Given the description of an element on the screen output the (x, y) to click on. 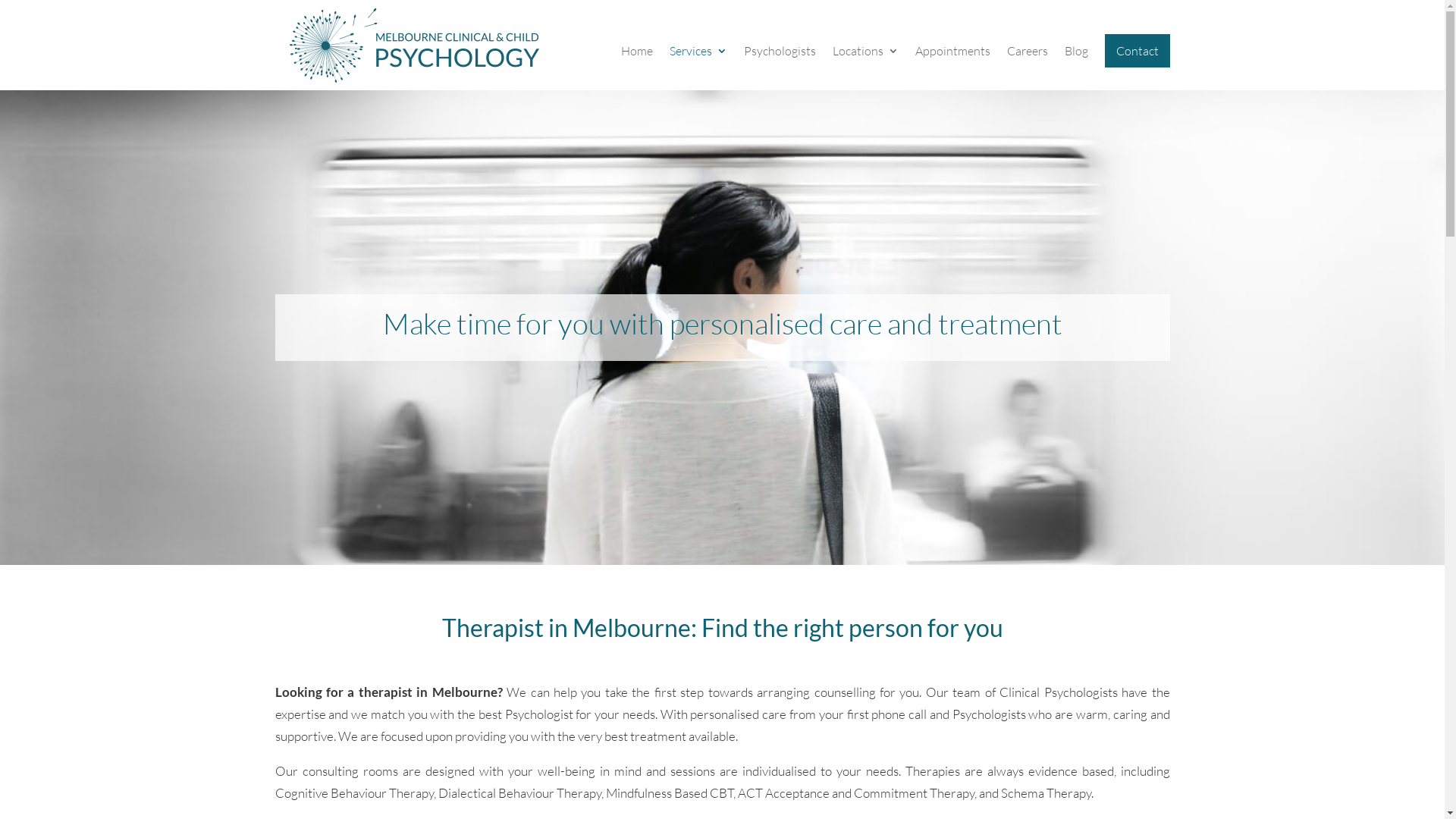
Blog Element type: text (1076, 67)
Appointments Element type: text (951, 67)
Locations Element type: text (865, 67)
Home Element type: text (636, 67)
Services Element type: text (697, 67)
Contact Element type: text (1136, 50)
Careers Element type: text (1027, 67)
Psychologists Element type: text (779, 67)
